Given the description of an element on the screen output the (x, y) to click on. 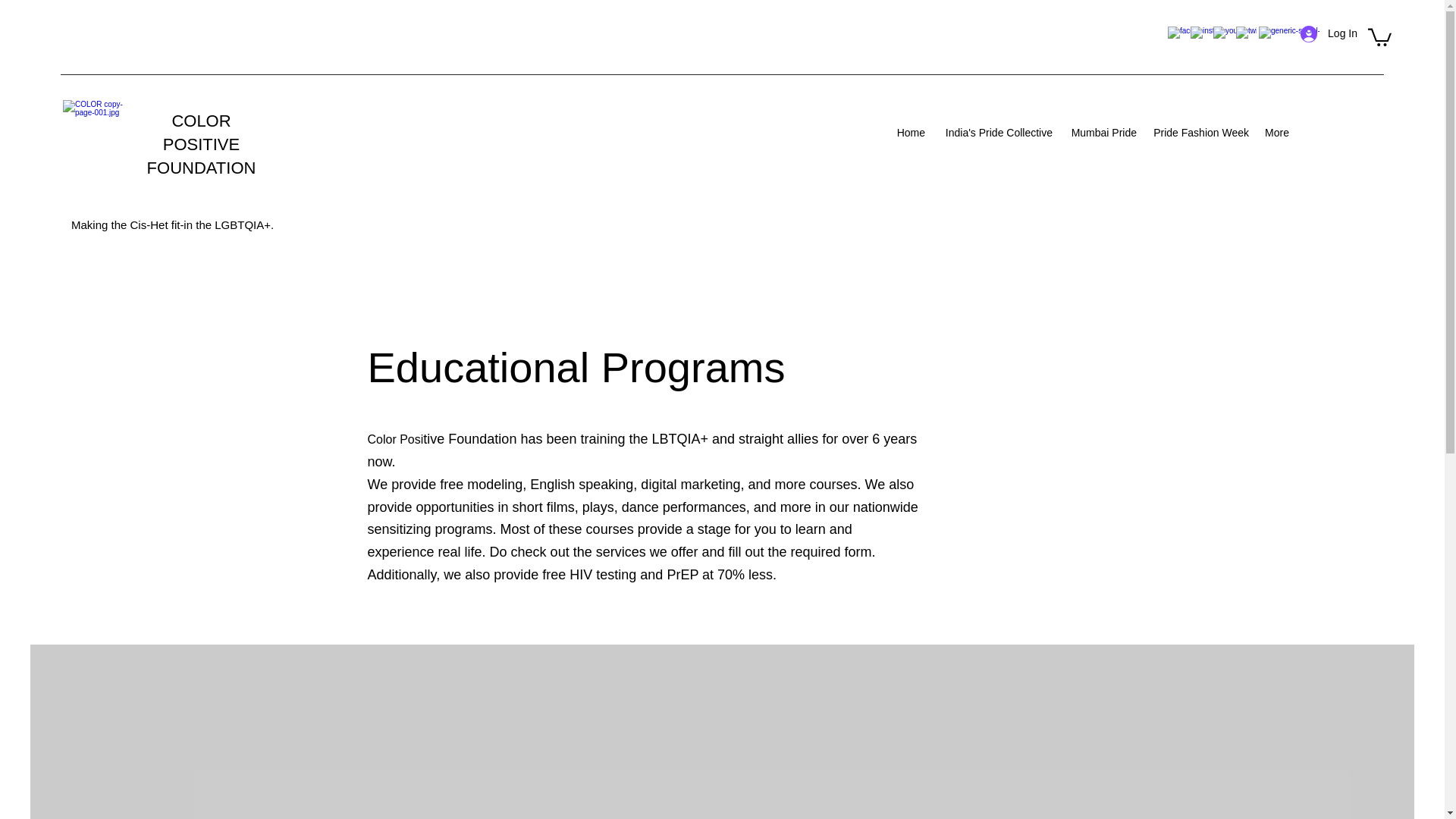
Home (910, 132)
Pride Fashion Week (1200, 132)
Log In (1329, 33)
Mumbai Pride (1101, 132)
India's Pride Collective (996, 132)
